Given the description of an element on the screen output the (x, y) to click on. 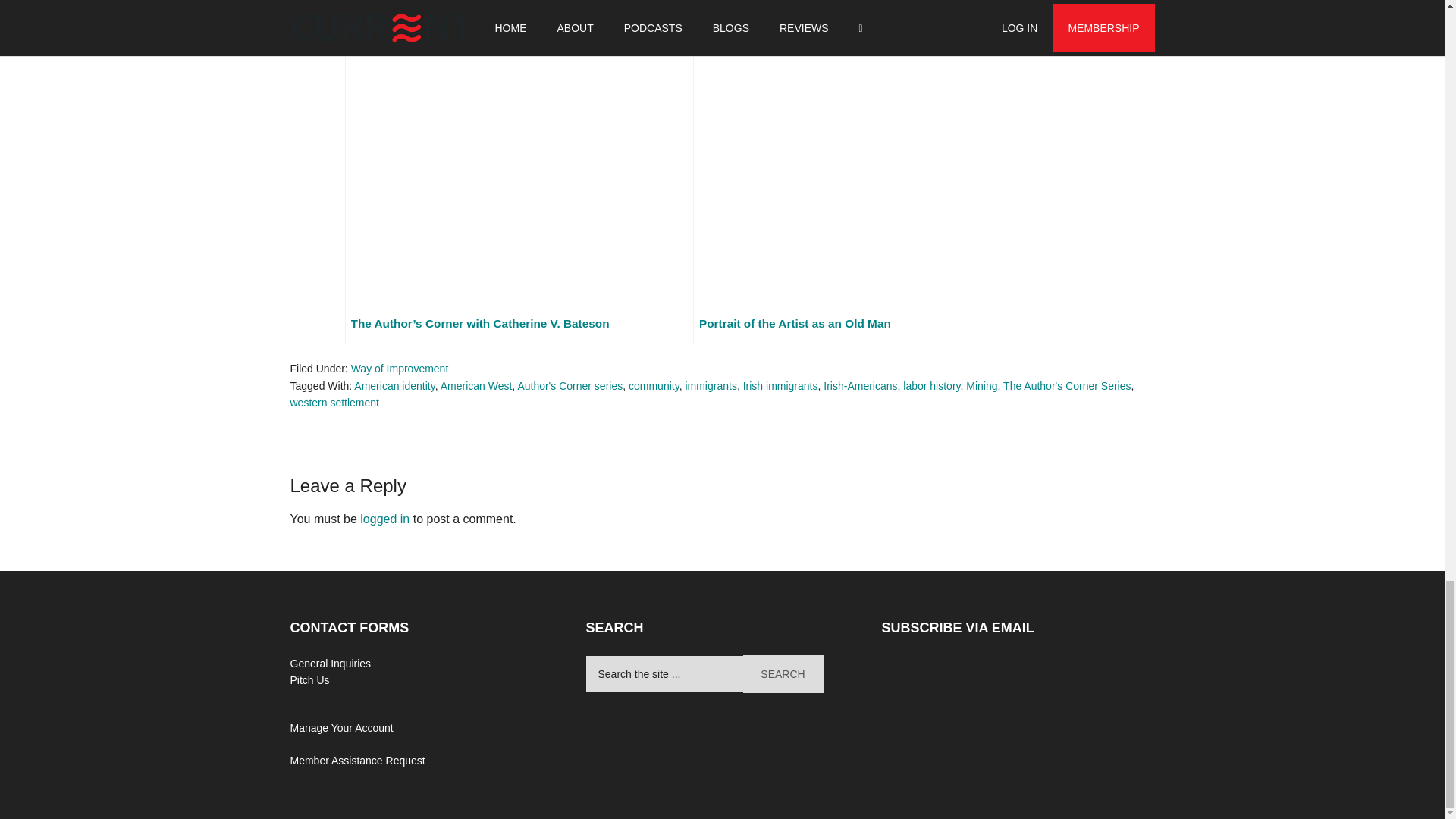
Portrait of the Artist as an Old Man (863, 171)
Author's Corner series (569, 386)
immigrants (710, 386)
American West (476, 386)
American identity (393, 386)
Way of Improvement (399, 368)
community (653, 386)
Search (783, 673)
Portrait of the Artist as an Old Man (863, 171)
labor history (930, 386)
Irish-Americans (860, 386)
Mining (981, 386)
Search (783, 673)
Irish immigrants (780, 386)
